Given the description of an element on the screen output the (x, y) to click on. 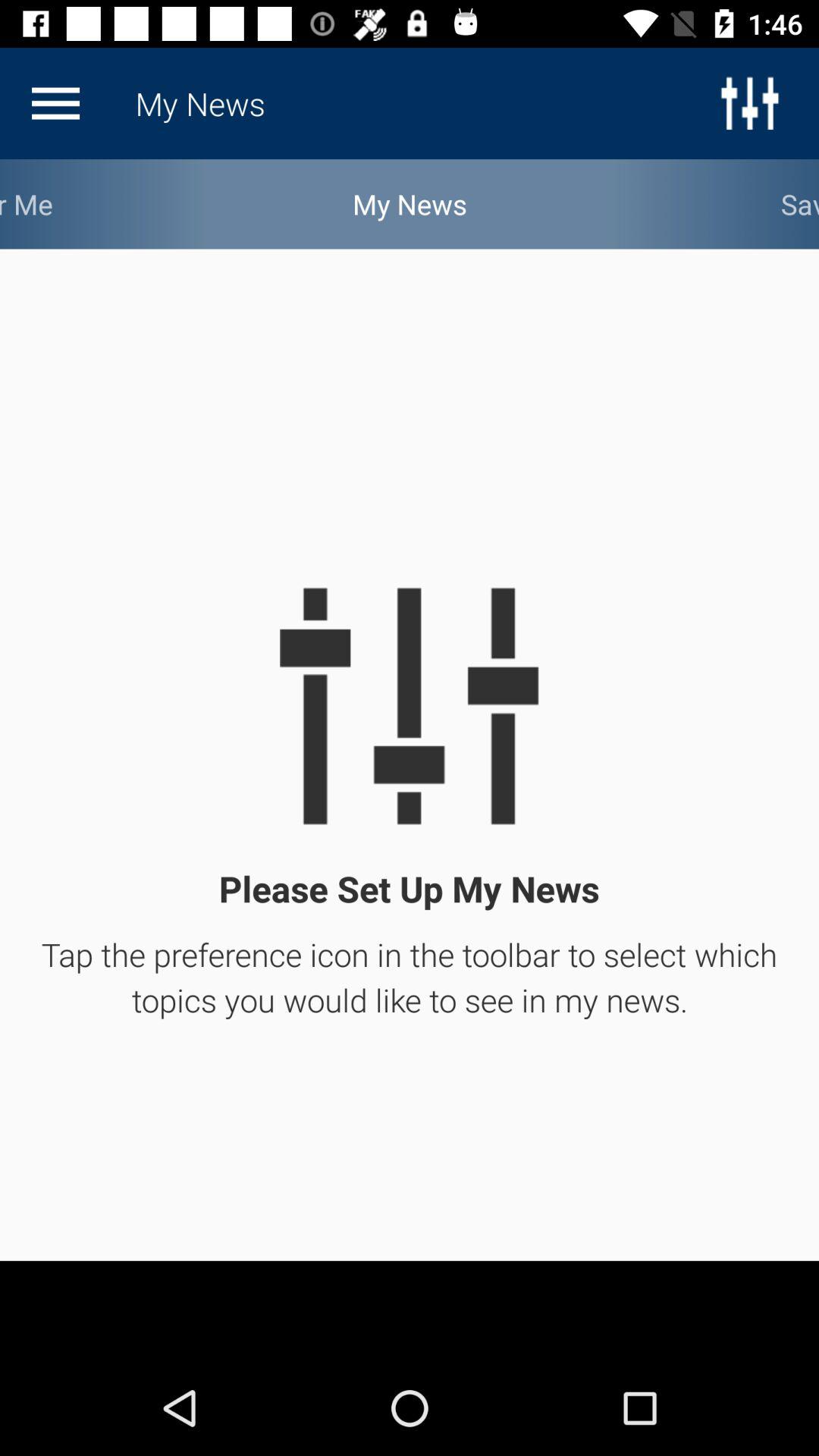
settings (55, 103)
